Given the description of an element on the screen output the (x, y) to click on. 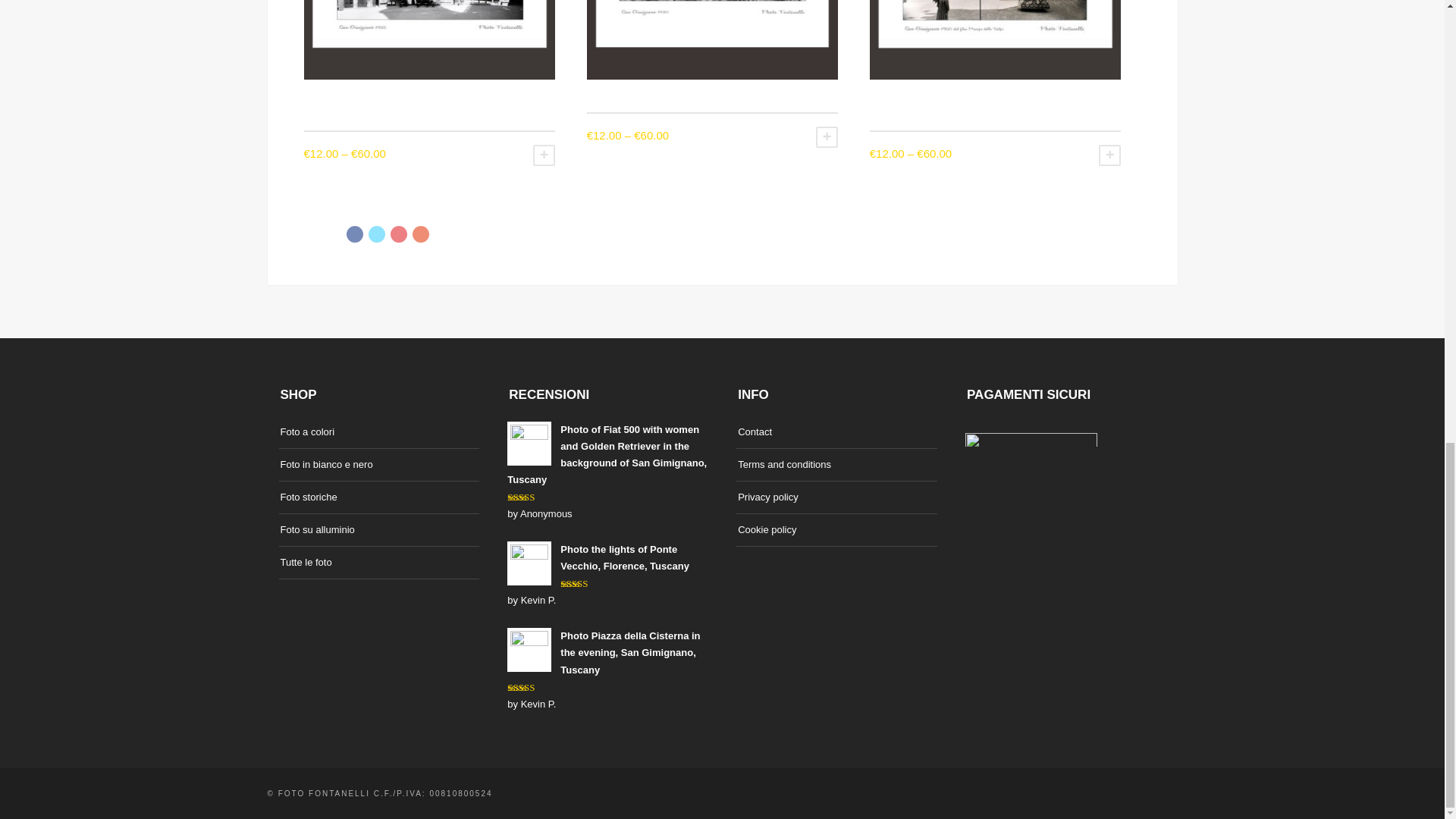
Foto a colori (307, 431)
SELECT OPTIONS (826, 137)
SELECT OPTIONS (543, 155)
Foto in bianco e nero (326, 464)
Facebook (354, 234)
Twitter (376, 234)
SELECT OPTIONS (1110, 155)
Foto storiche (309, 496)
